Given the description of an element on the screen output the (x, y) to click on. 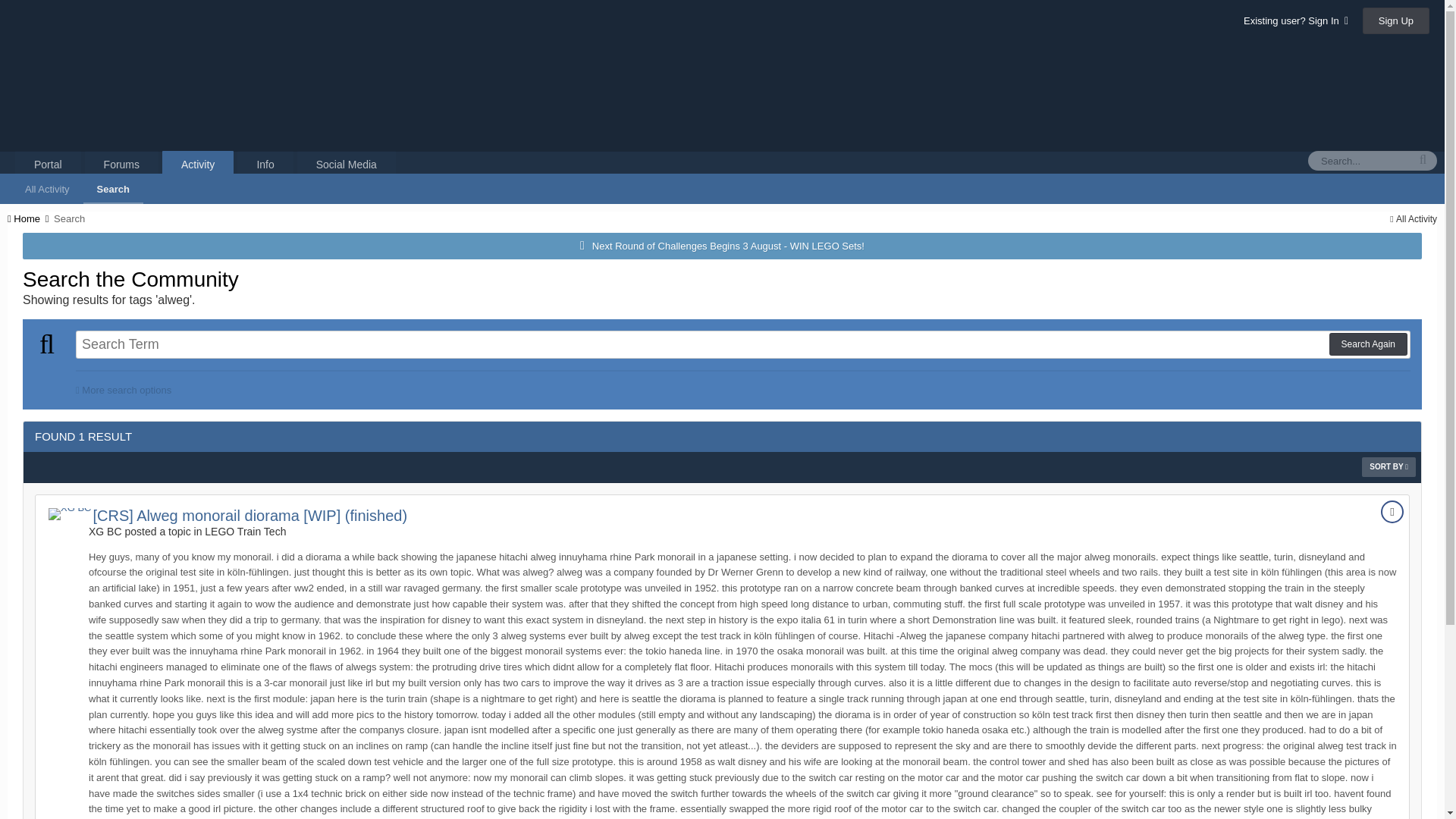
Existing user? Sign In   (1295, 20)
Home (28, 218)
Forums (121, 164)
Go to XG BC's profile (69, 513)
Topic (1391, 511)
Portal (47, 164)
Sign Up (1395, 20)
